Given the description of an element on the screen output the (x, y) to click on. 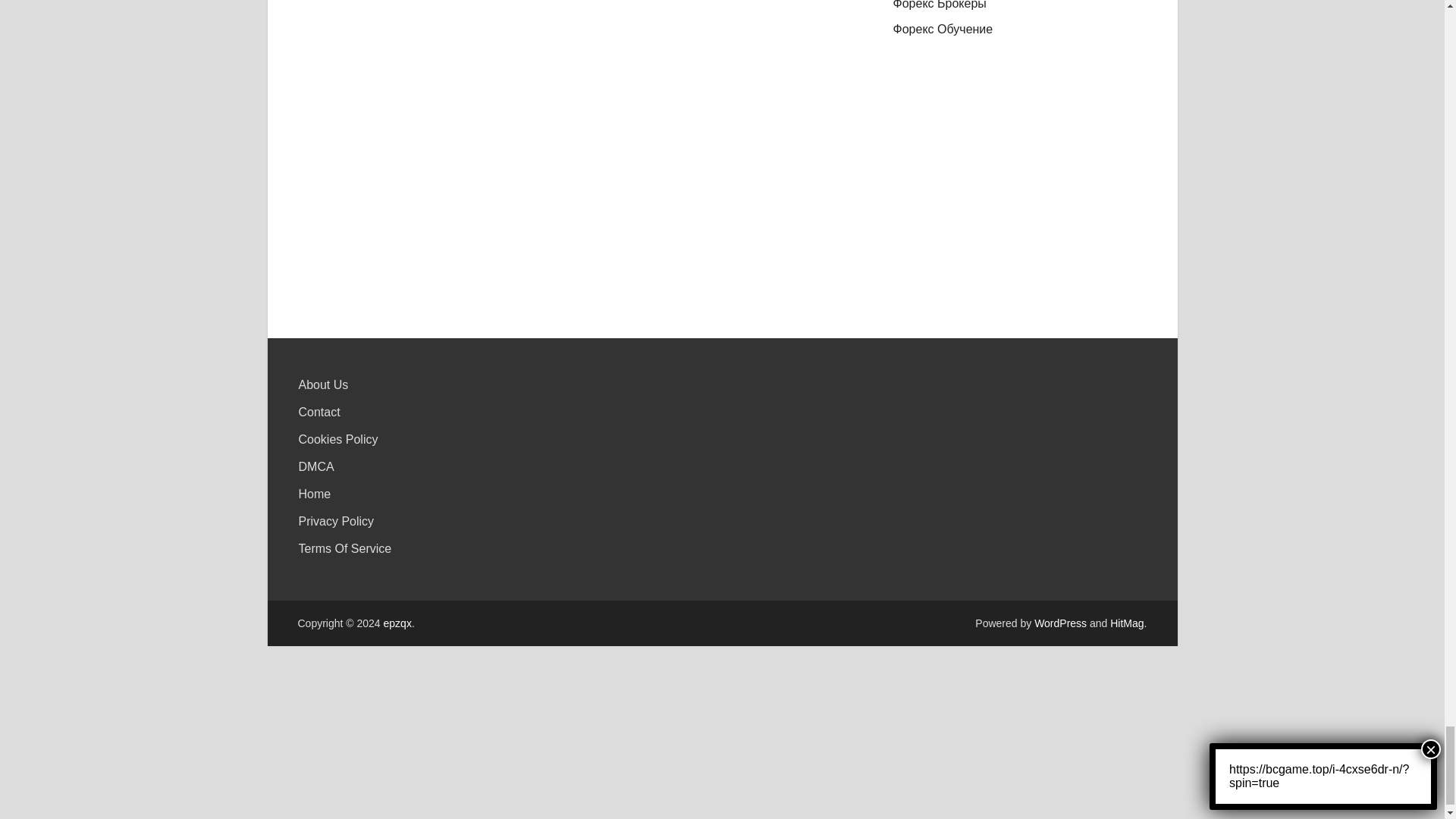
WordPress (1059, 623)
epzqx (398, 623)
HitMag WordPress Theme (1125, 623)
